Given the description of an element on the screen output the (x, y) to click on. 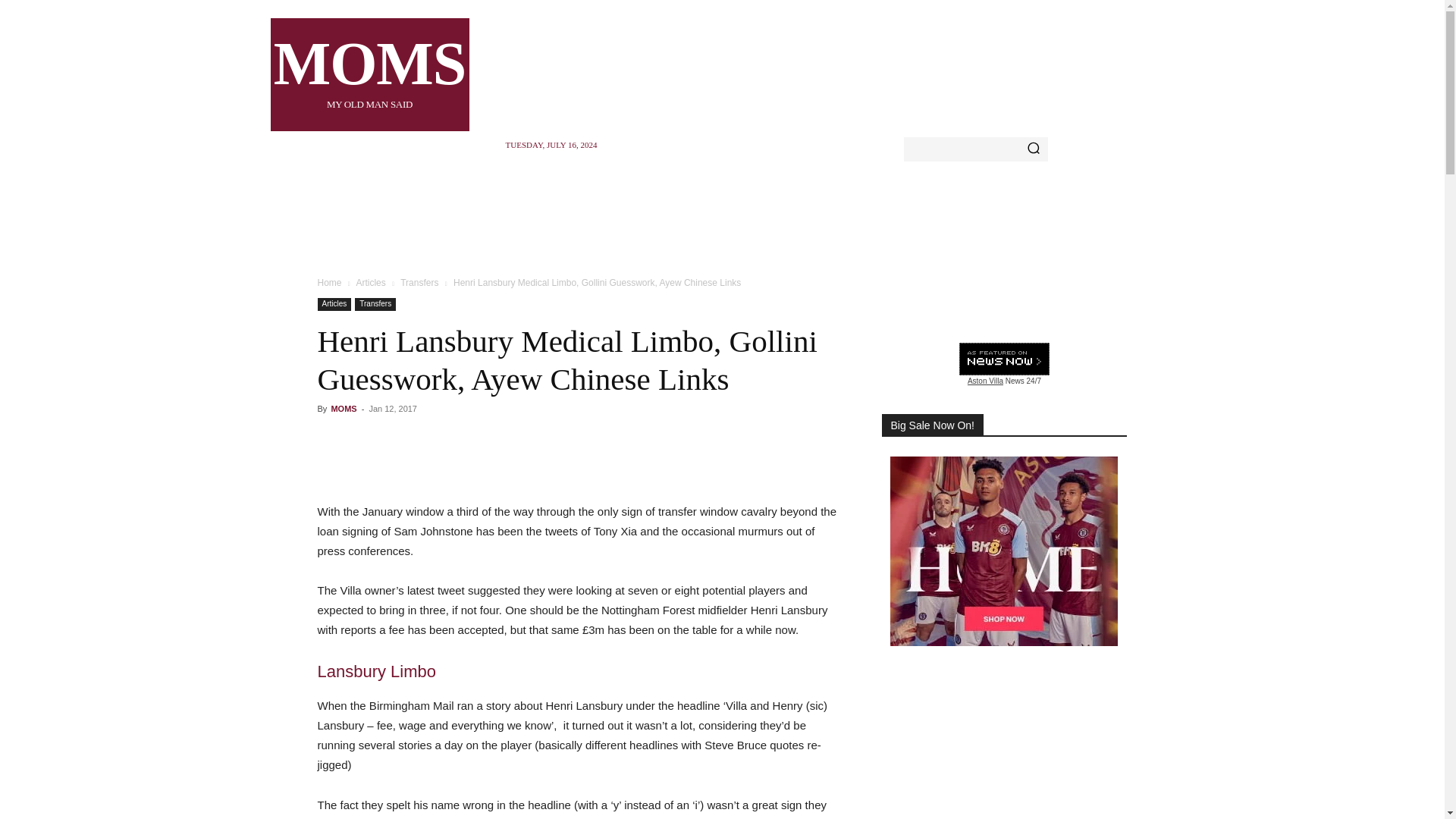
View all posts in Transfers (419, 282)
View all posts in Articles (368, 74)
